Given the description of an element on the screen output the (x, y) to click on. 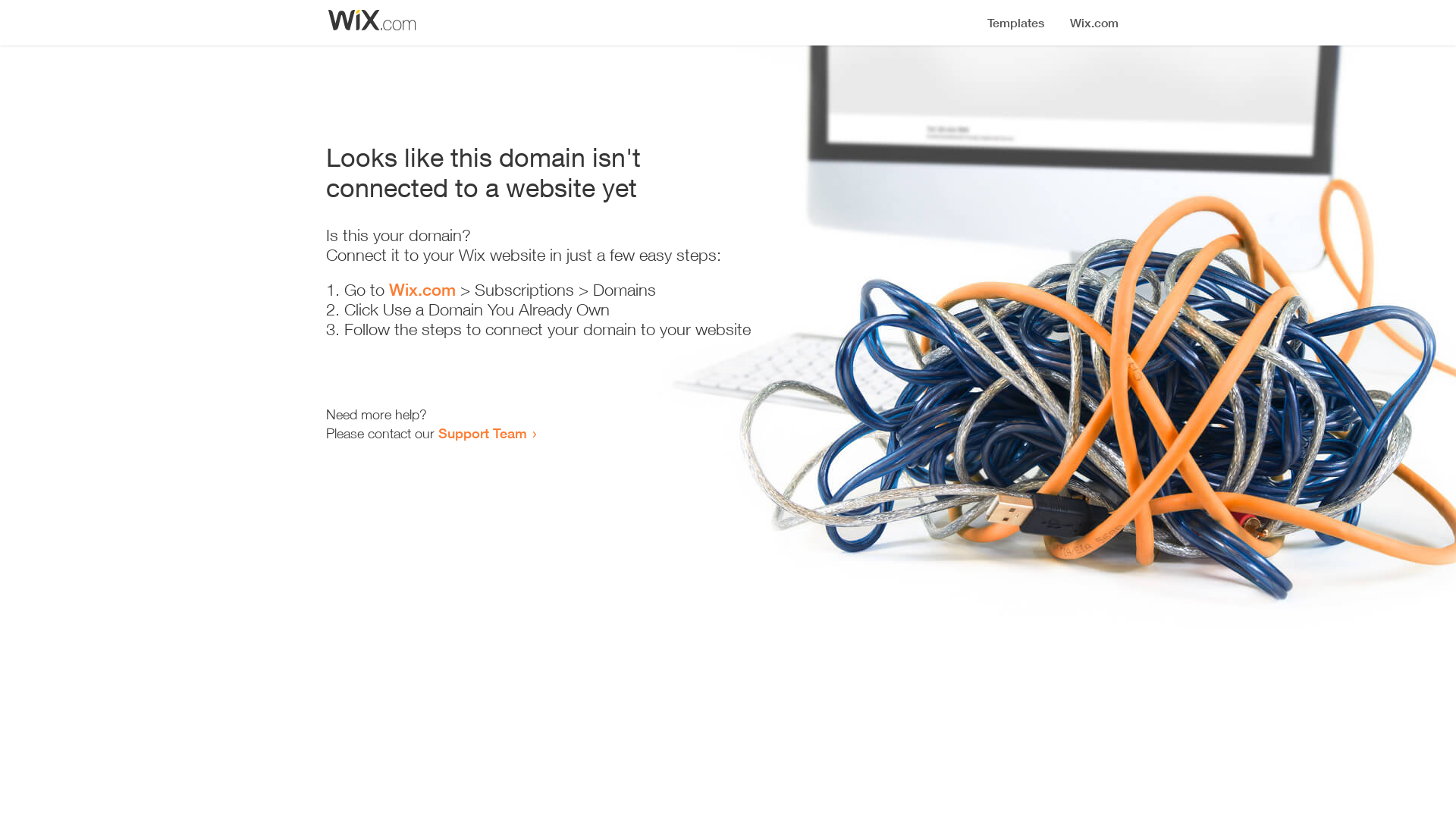
Support Team Element type: text (482, 432)
Wix.com Element type: text (422, 289)
